Given the description of an element on the screen output the (x, y) to click on. 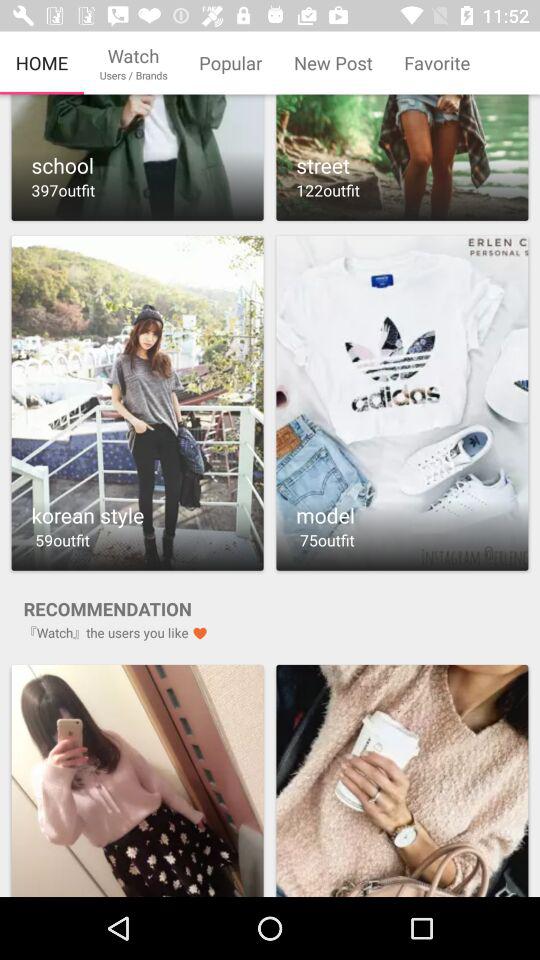
choose the selection (137, 158)
